Given the description of an element on the screen output the (x, y) to click on. 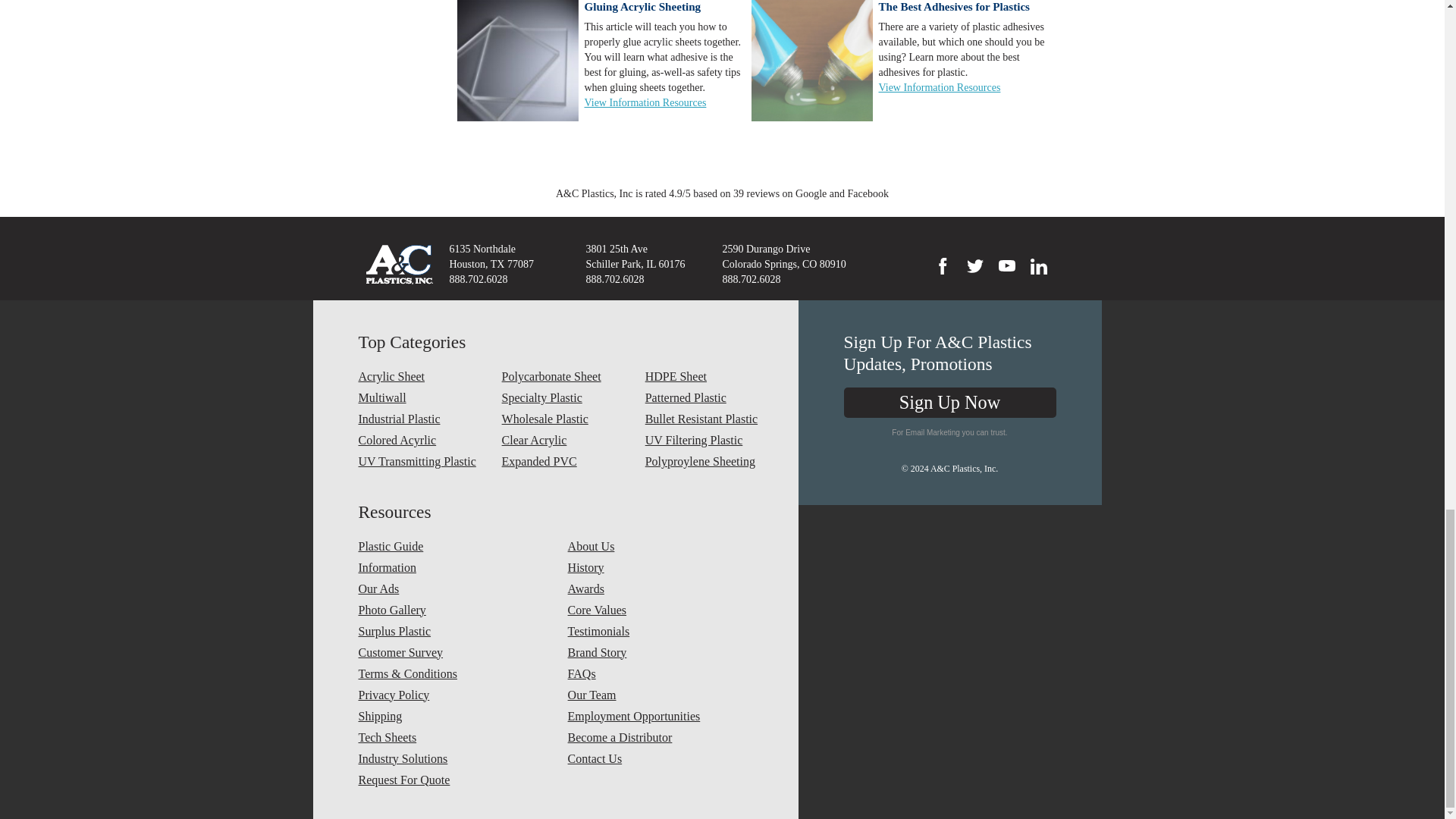
Specialty Plastic Sheeting (567, 397)
Textured Plastic Sheets (711, 397)
Multiwall Polycarbonate (423, 397)
Acrylic Plexiglass Sheets (423, 376)
Industrial Plastic Sheets (423, 418)
Wholesale and Bulk Plastic Sheeting (567, 418)
Polycarbonate Sheeting (567, 376)
High Density Polyethylene Sheets (711, 376)
